Given the description of an element on the screen output the (x, y) to click on. 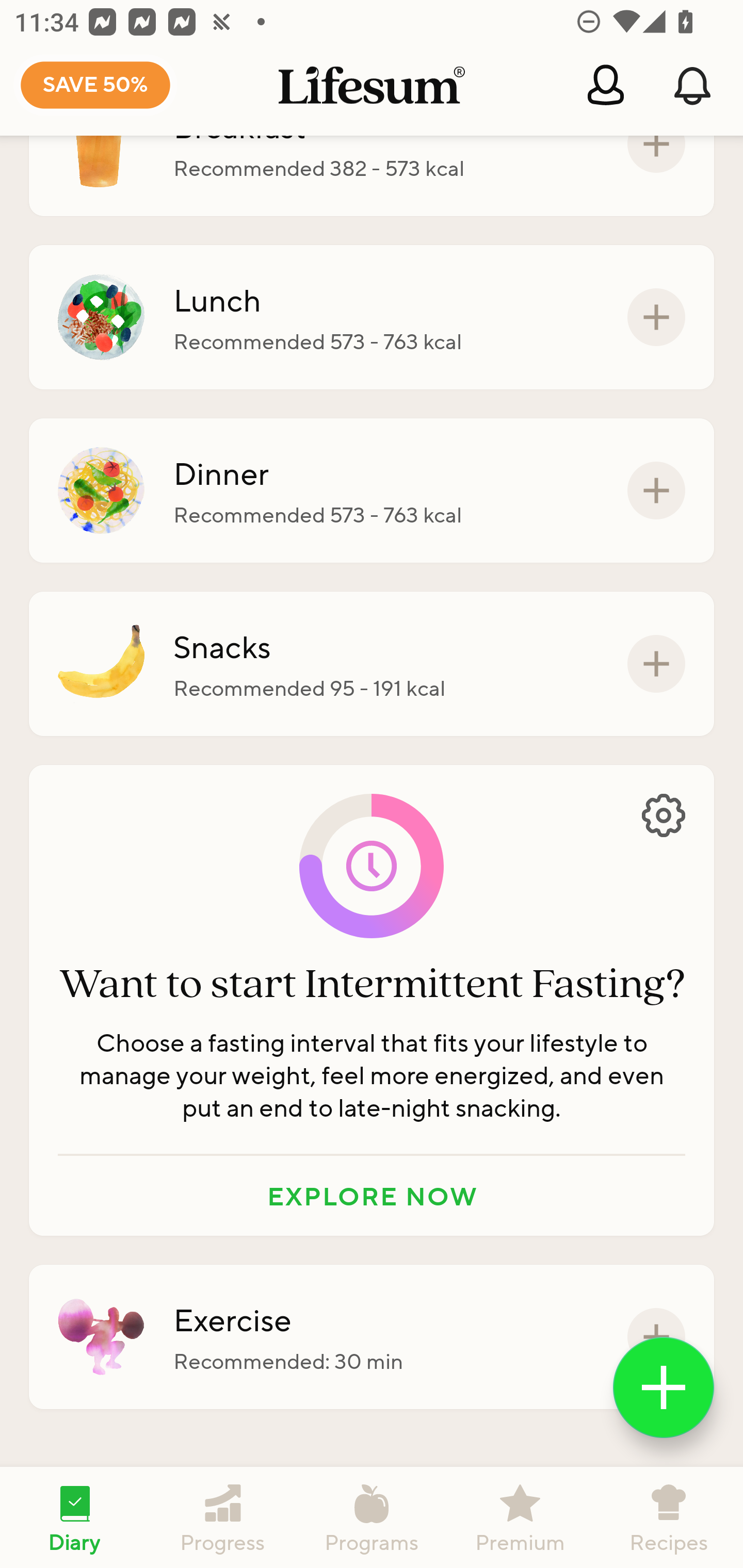
Lunch Recommended 573 - 763 kcal (371, 316)
Dinner Recommended 573 - 763 kcal (371, 490)
Snacks Recommended 95 - 191 kcal (371, 663)
EXPLORE NOW (371, 1195)
Exercise Recommended: 30 min (371, 1337)
Progress (222, 1517)
Programs (371, 1517)
Premium (519, 1517)
Recipes (668, 1517)
